Given the description of an element on the screen output the (x, y) to click on. 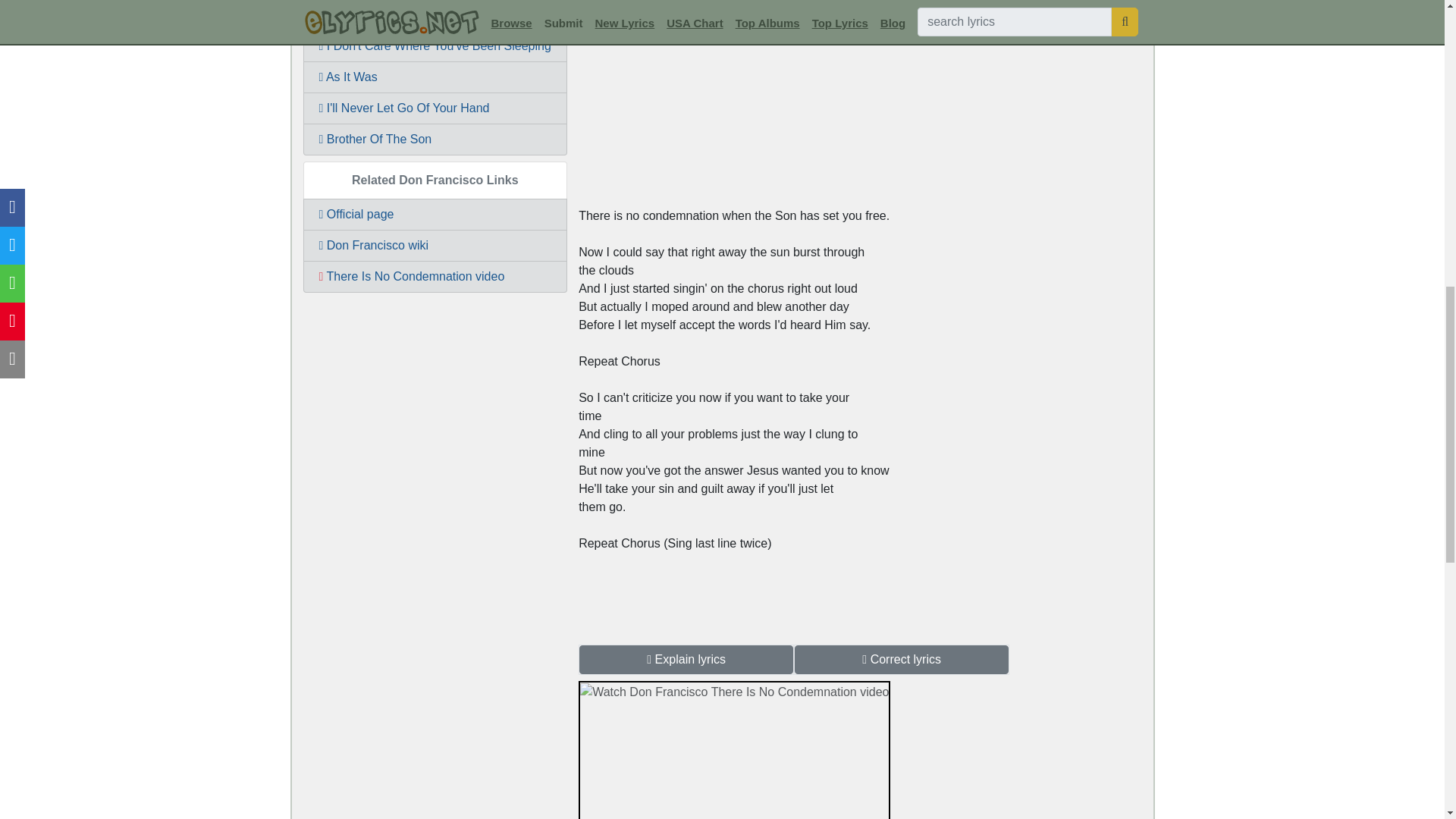
Official page (434, 214)
Explain lyrics (686, 659)
Brother Of The Son (434, 139)
Related Don Francisco Links (434, 180)
There Is No Condemnation video (434, 276)
I Don't Care Where You've Been Sleeping (434, 46)
Don Francisco wiki (434, 245)
I'll Never Let Go Of Your Hand (434, 108)
Watch Don Francisco There Is No Condemnation video (733, 633)
Correct lyrics (901, 659)
As It Was (434, 77)
I Have Chosen You (434, 15)
